Given the description of an element on the screen output the (x, y) to click on. 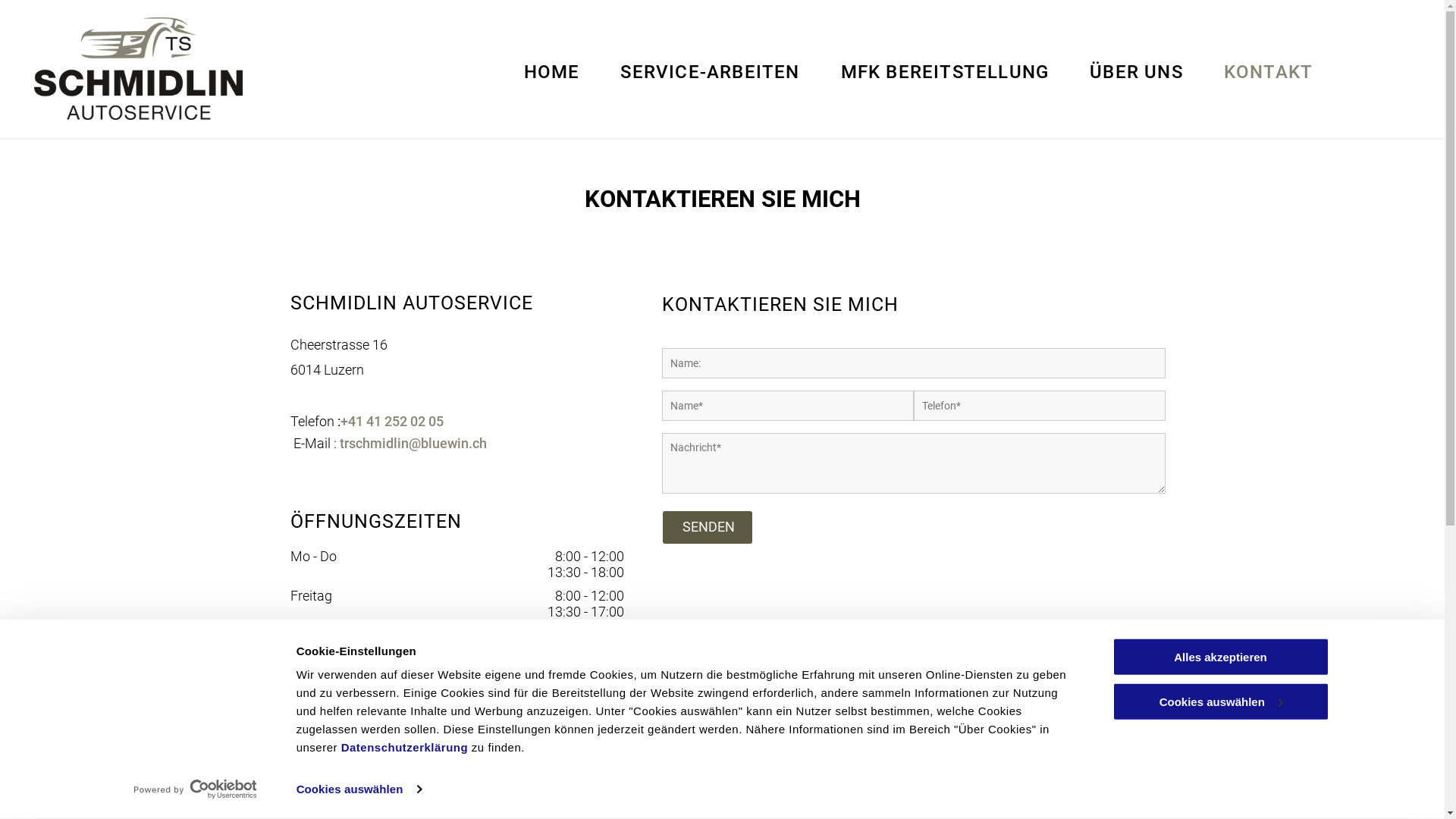
SERVICE-ARBEITEN Element type: text (709, 71)
SENDEN Element type: text (709, 526)
Alles akzeptieren Element type: text (1219, 656)
+41 41 252 02 05 Element type: text (390, 421)
HOME Element type: text (552, 71)
MFK BEREITSTELLUNG Element type: text (944, 71)
trschmidlin@bluewin.ch Element type: text (412, 443)
KONTAKT Element type: text (1267, 71)
